Given the description of an element on the screen output the (x, y) to click on. 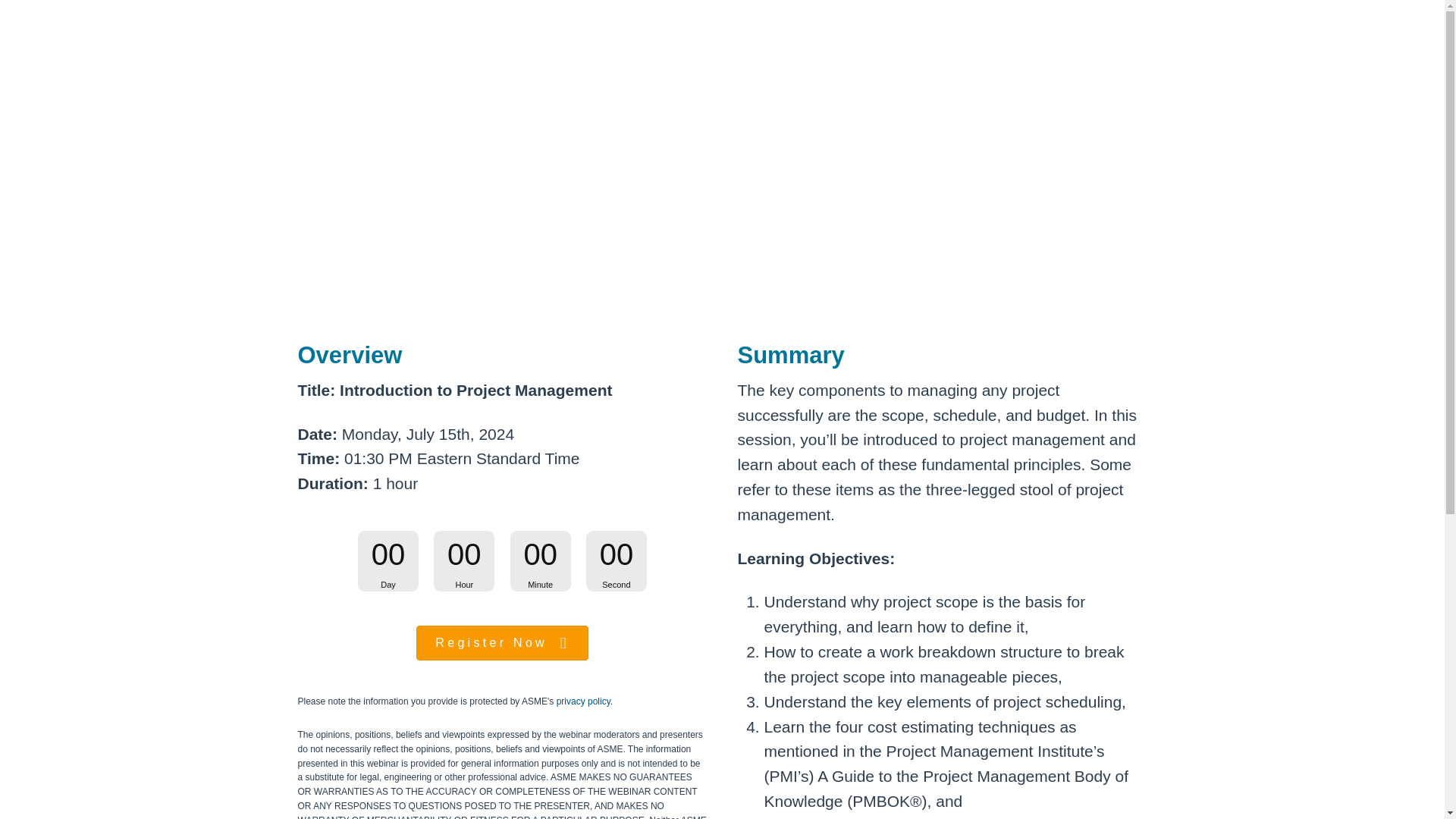
Register Now (502, 642)
privacy policy (583, 701)
